Given the description of an element on the screen output the (x, y) to click on. 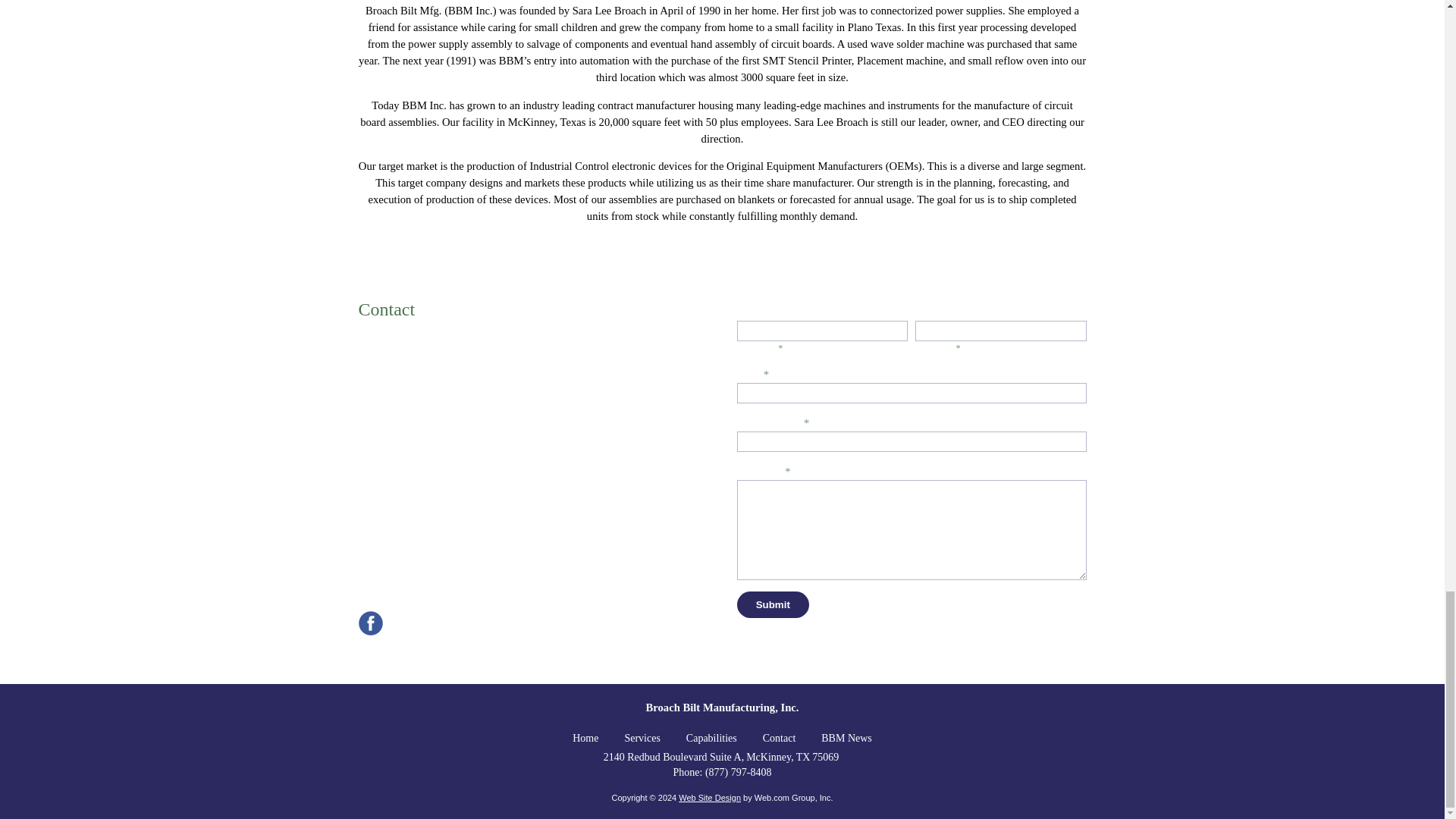
Web Site Design (709, 797)
Capabilities (710, 738)
Home (585, 738)
Services (641, 738)
BBM News (846, 738)
Submit (772, 604)
Submit (772, 604)
Contact (779, 738)
